Given the description of an element on the screen output the (x, y) to click on. 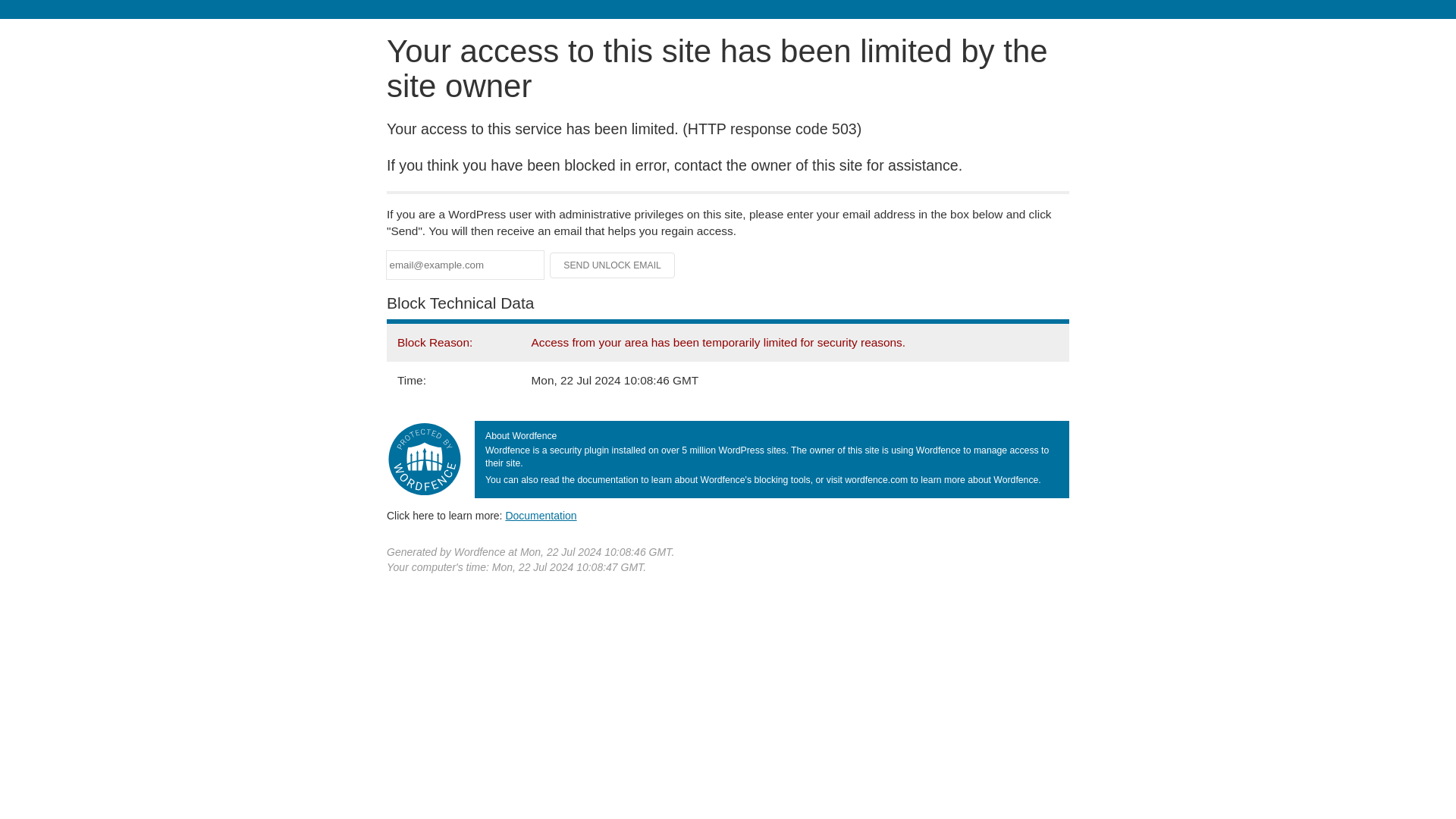
Send Unlock Email (612, 265)
Documentation (540, 515)
Send Unlock Email (612, 265)
